Given the description of an element on the screen output the (x, y) to click on. 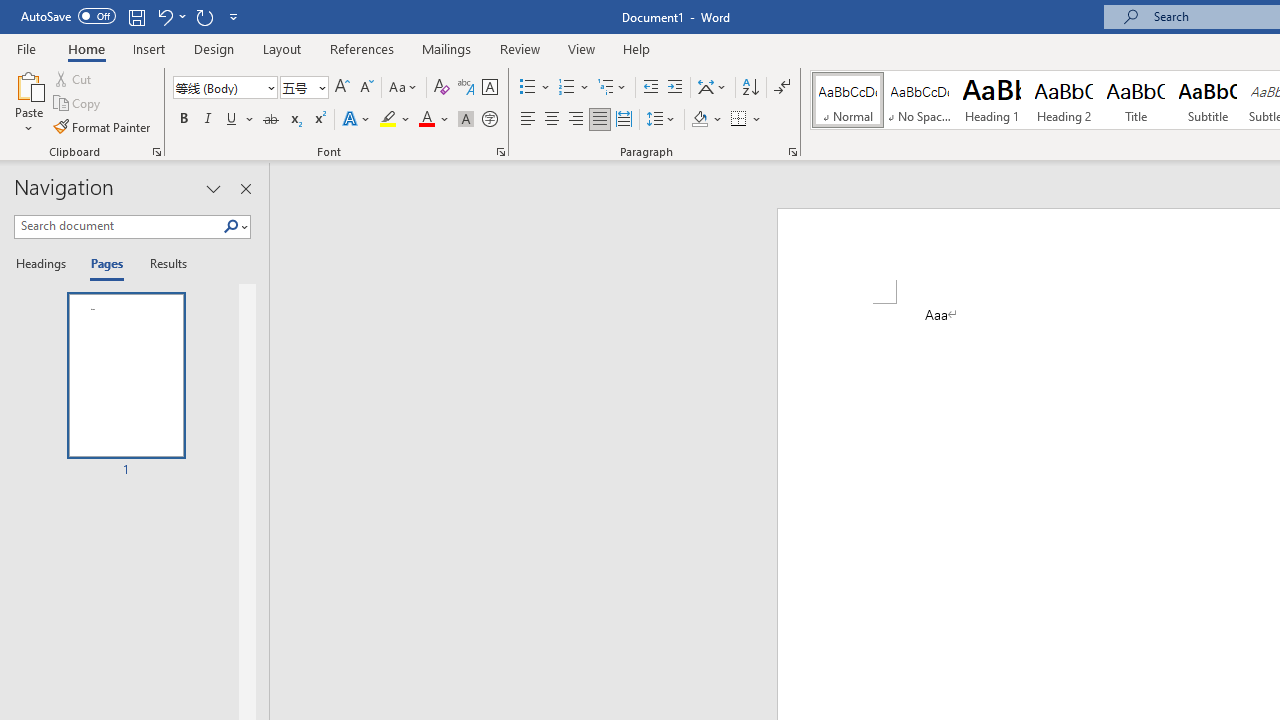
Grow Font (342, 87)
Underline (232, 119)
Font Color Red (426, 119)
Numbering (573, 87)
Bullets (527, 87)
Insert (149, 48)
Clear Formatting (442, 87)
Paste (28, 84)
Cut (73, 78)
Increase Indent (675, 87)
Open (320, 87)
Customize Quick Access Toolbar (234, 15)
Text Effects and Typography (357, 119)
Shrink Font (365, 87)
